Given the description of an element on the screen output the (x, y) to click on. 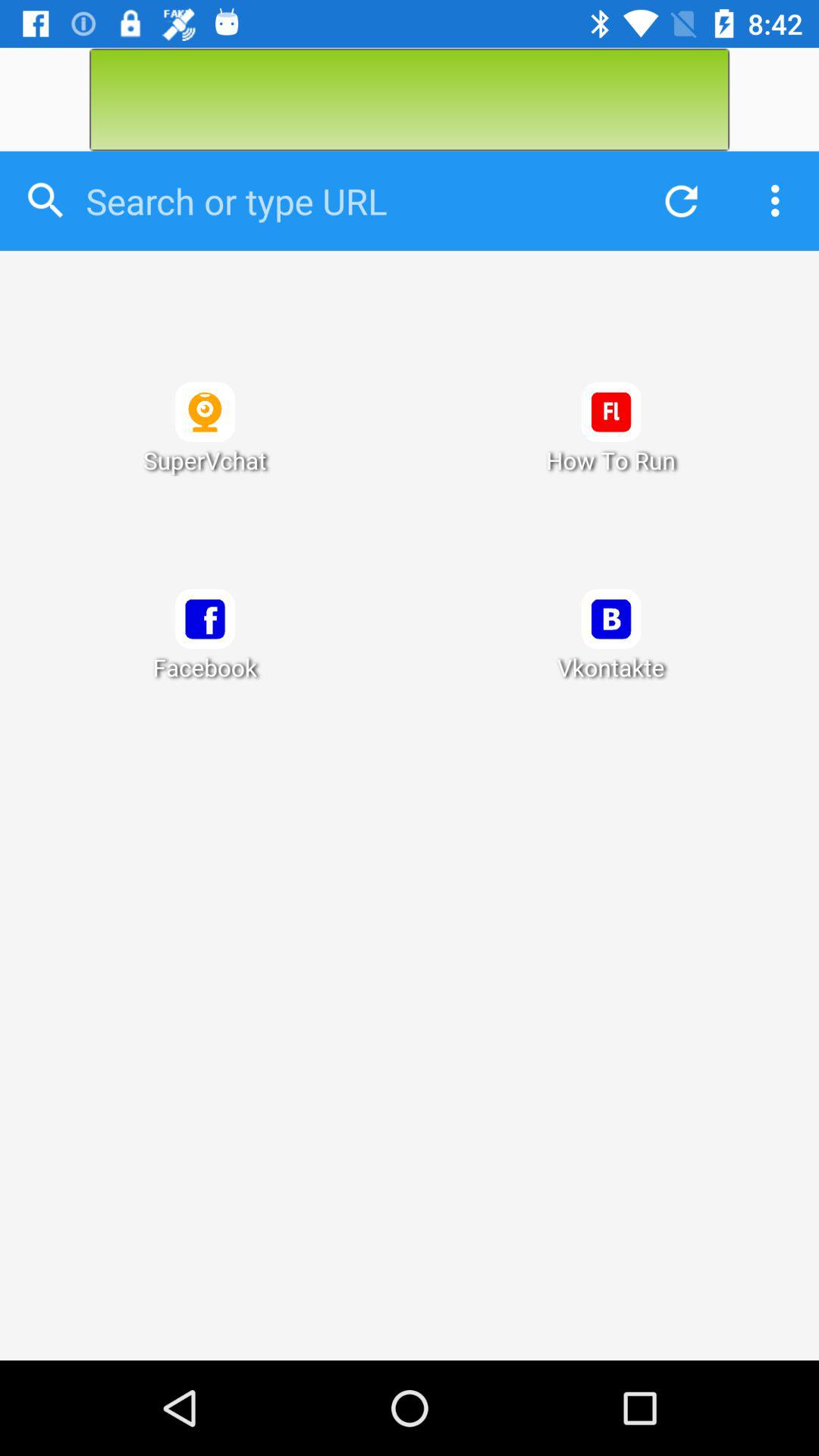
enter url (349, 200)
